Given the description of an element on the screen output the (x, y) to click on. 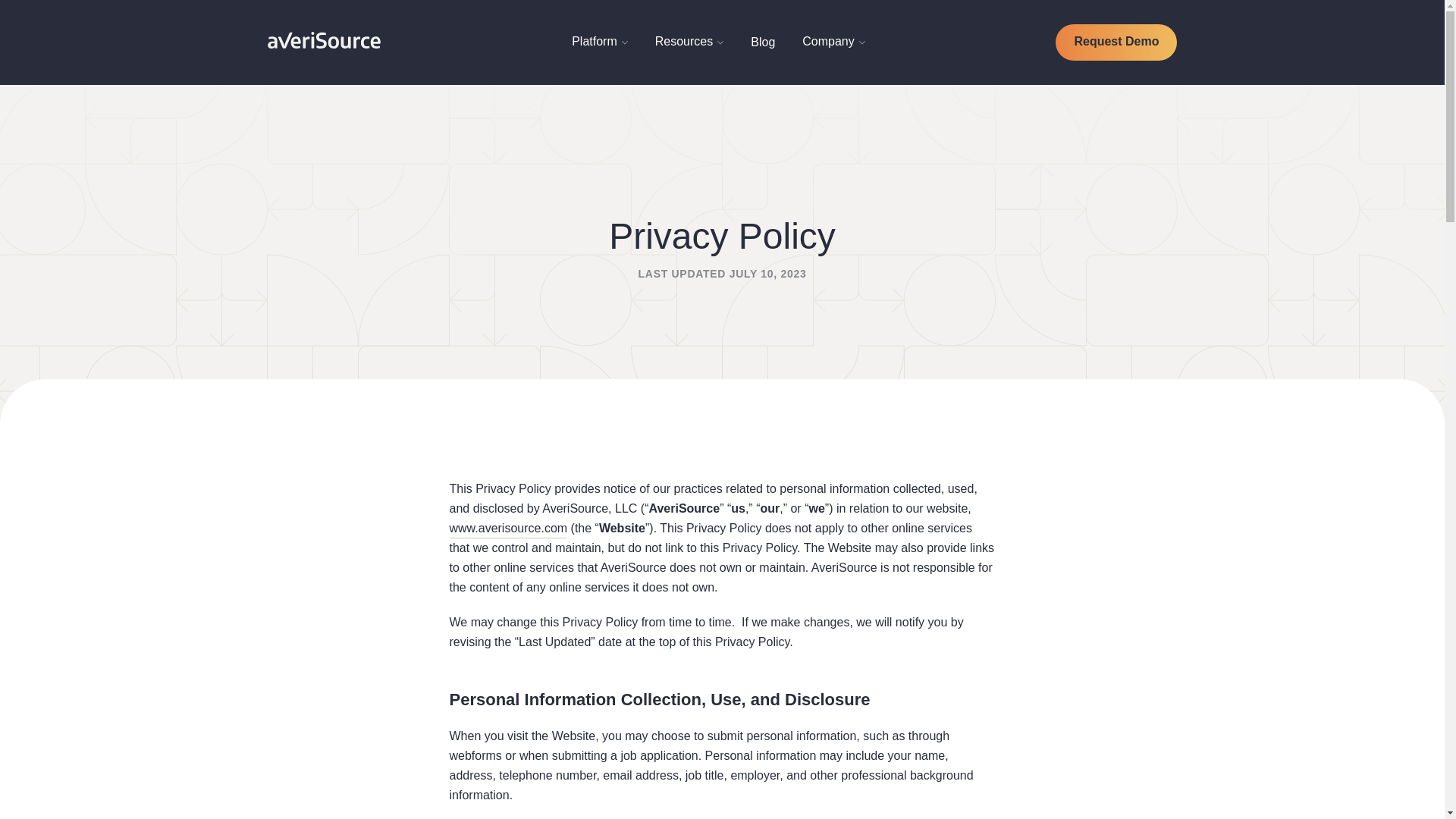
Blog (762, 42)
www.averisource.com (507, 528)
Request Demo (1115, 42)
